Given the description of an element on the screen output the (x, y) to click on. 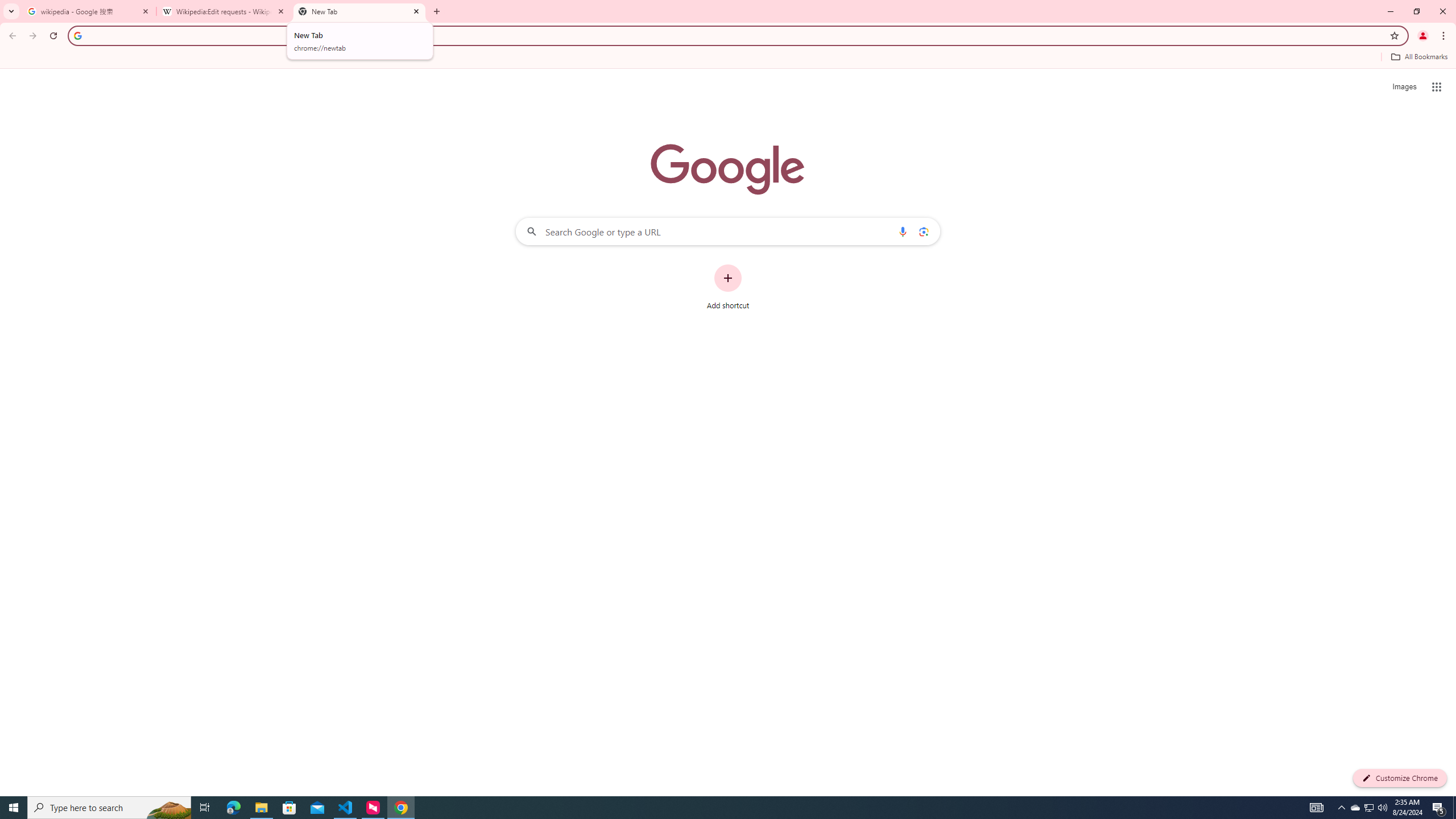
Customize Chrome (1399, 778)
Google apps (1436, 86)
Address and search bar (735, 35)
Search by voice (902, 230)
Bookmarks (728, 58)
